Given the description of an element on the screen output the (x, y) to click on. 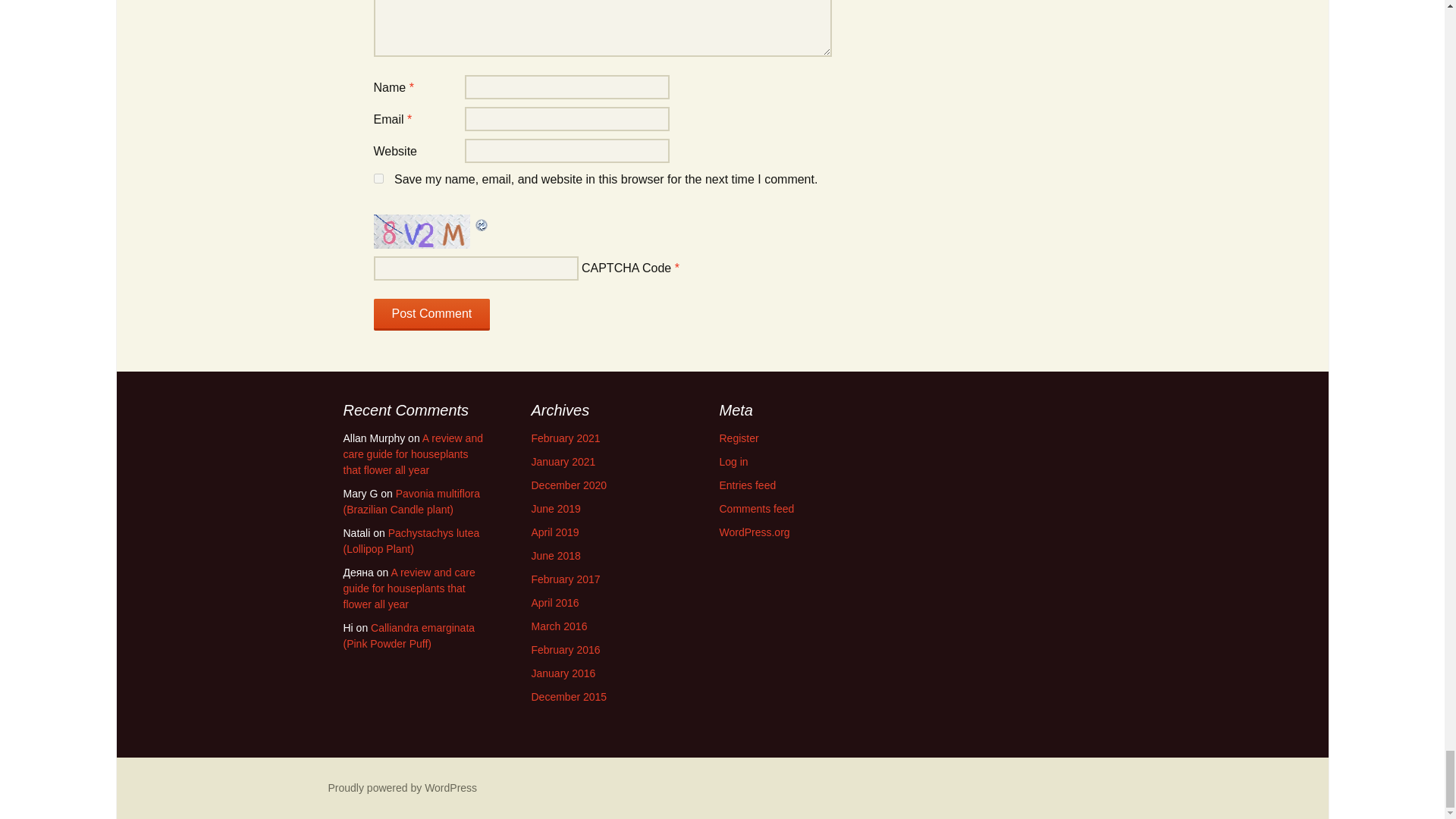
yes (377, 178)
Post Comment (430, 314)
Refresh (481, 223)
CAPTCHA (422, 231)
